Given the description of an element on the screen output the (x, y) to click on. 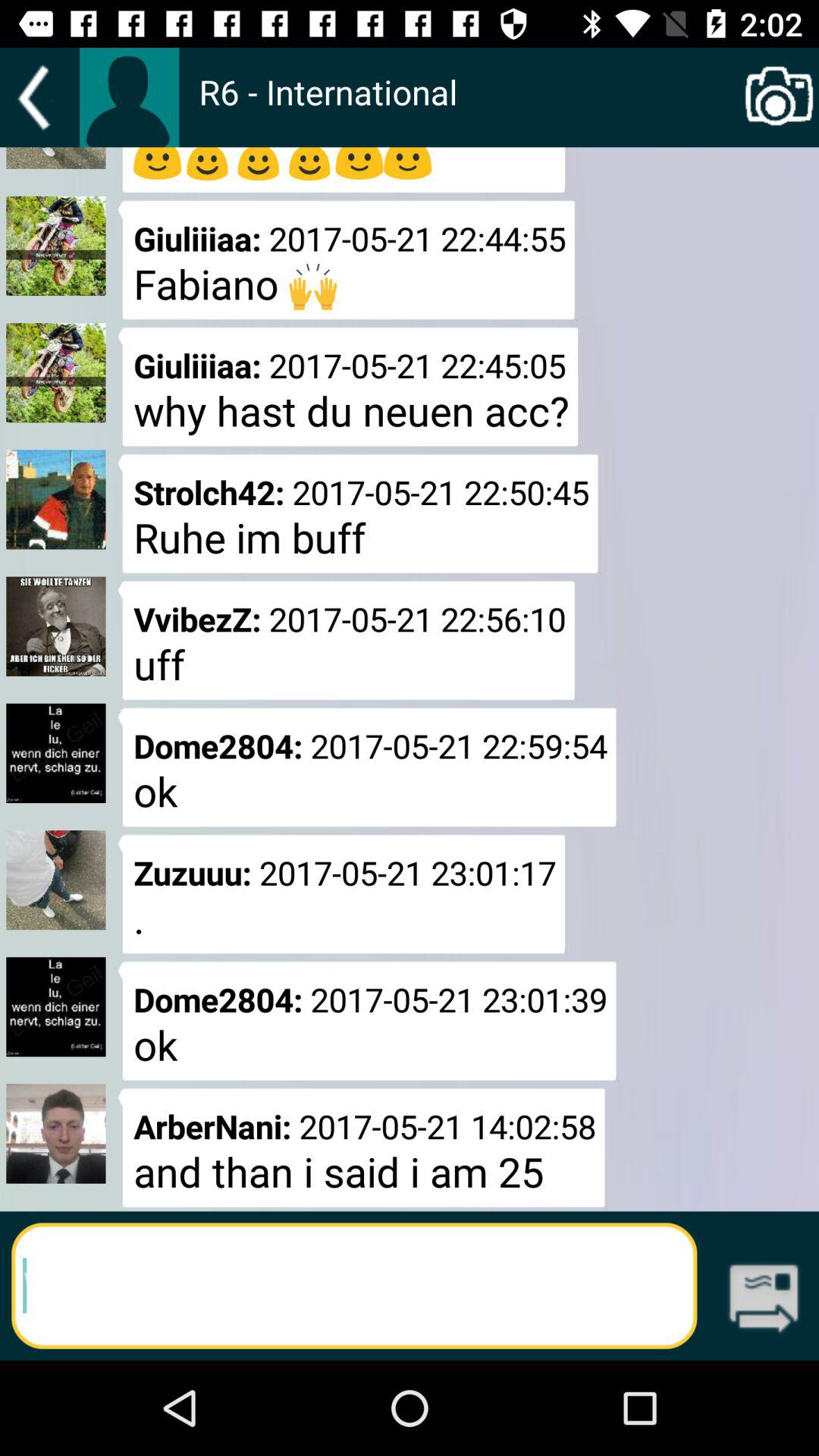
open icon at the top right corner (779, 97)
